Given the description of an element on the screen output the (x, y) to click on. 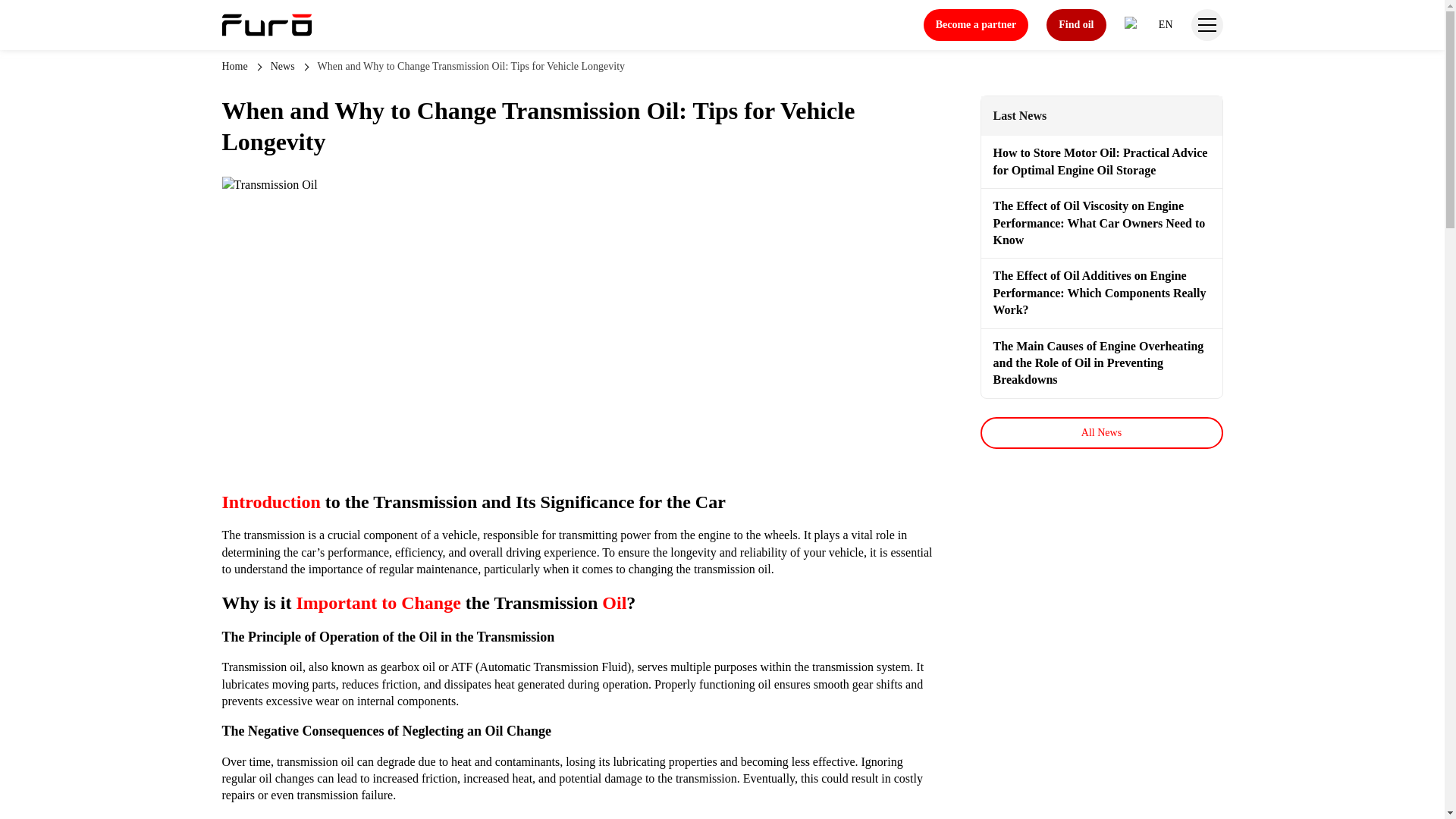
Find oil (1075, 24)
EN (1148, 24)
Become a partner (976, 24)
